Given the description of an element on the screen output the (x, y) to click on. 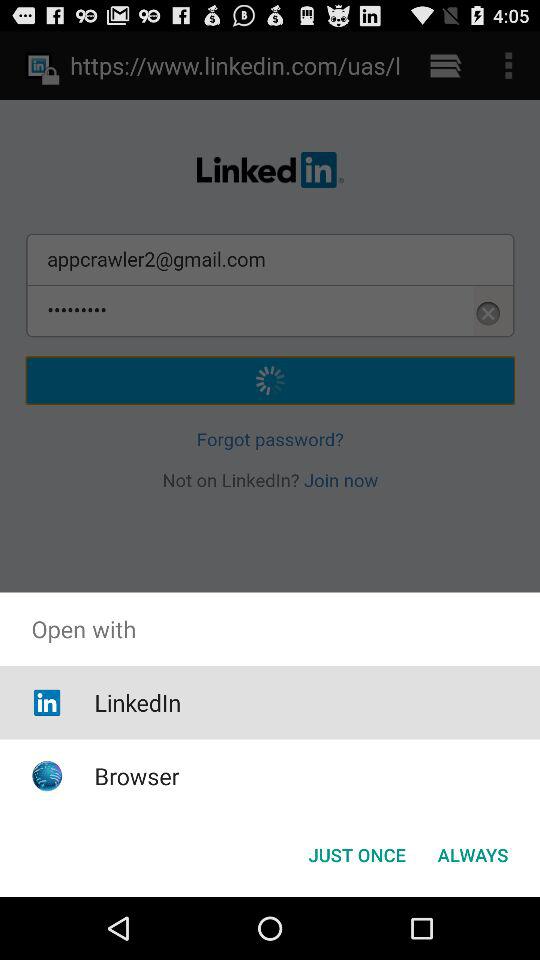
choose the button next to just once button (472, 854)
